Given the description of an element on the screen output the (x, y) to click on. 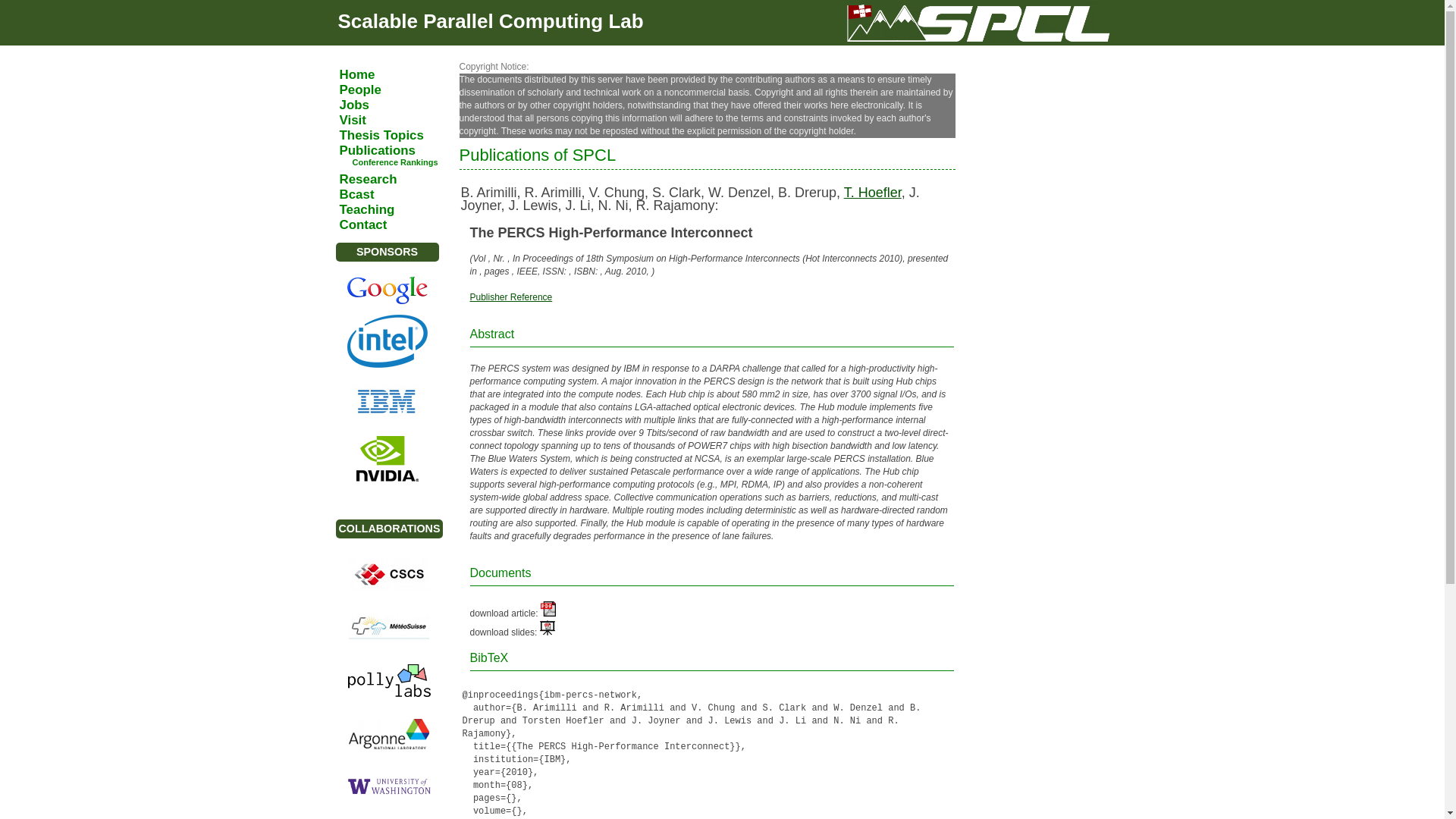
Scalable Parallel Computing Lab (490, 20)
Jobs (397, 104)
T. Hoefler (872, 192)
Teaching (397, 209)
Contact (397, 224)
Research (397, 178)
Conference Rankings (403, 162)
Bcast (397, 194)
People (397, 89)
Thesis Topics (397, 134)
